Given the description of an element on the screen output the (x, y) to click on. 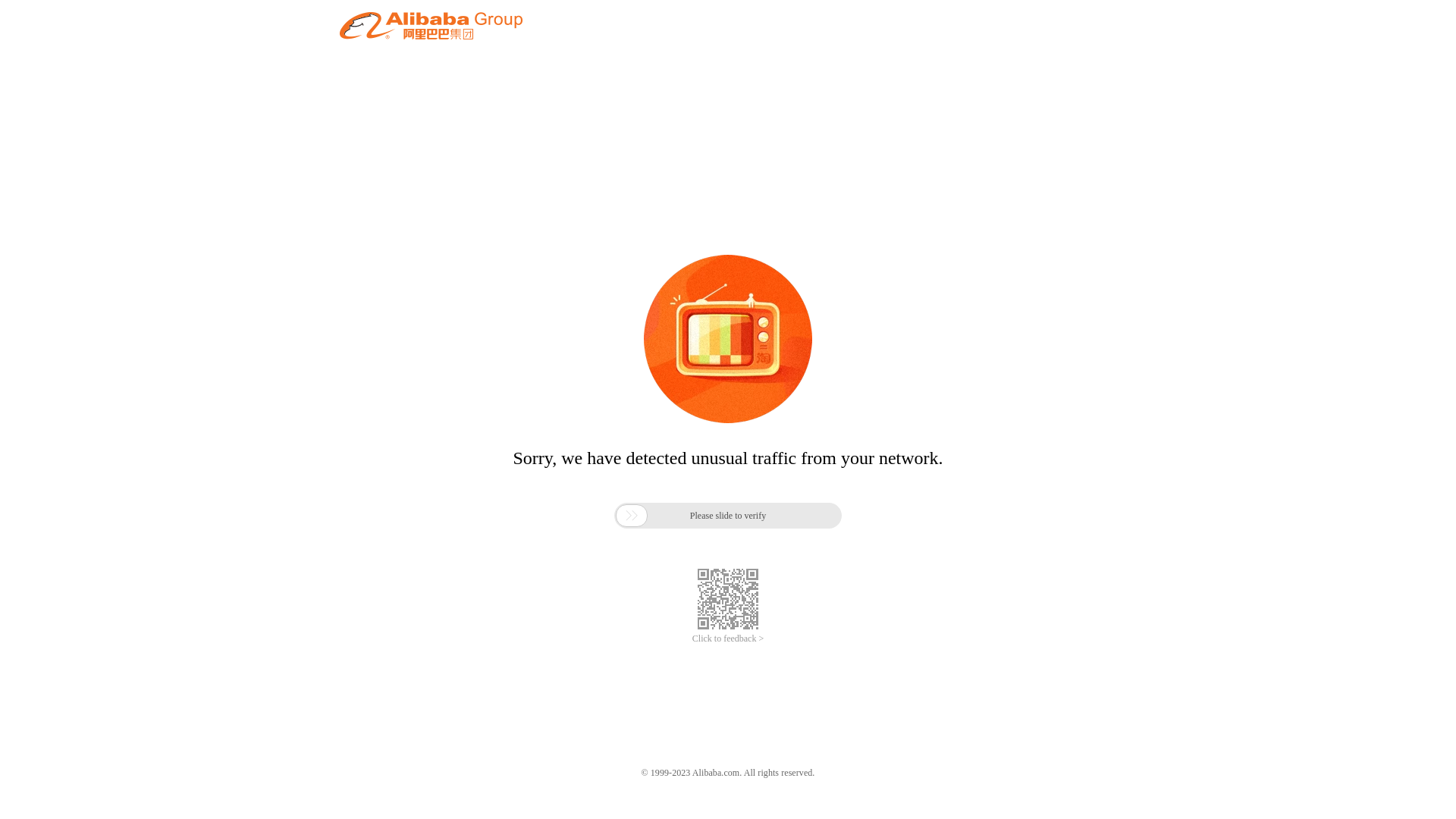
Click to feedback > Element type: text (727, 638)
